Given the description of an element on the screen output the (x, y) to click on. 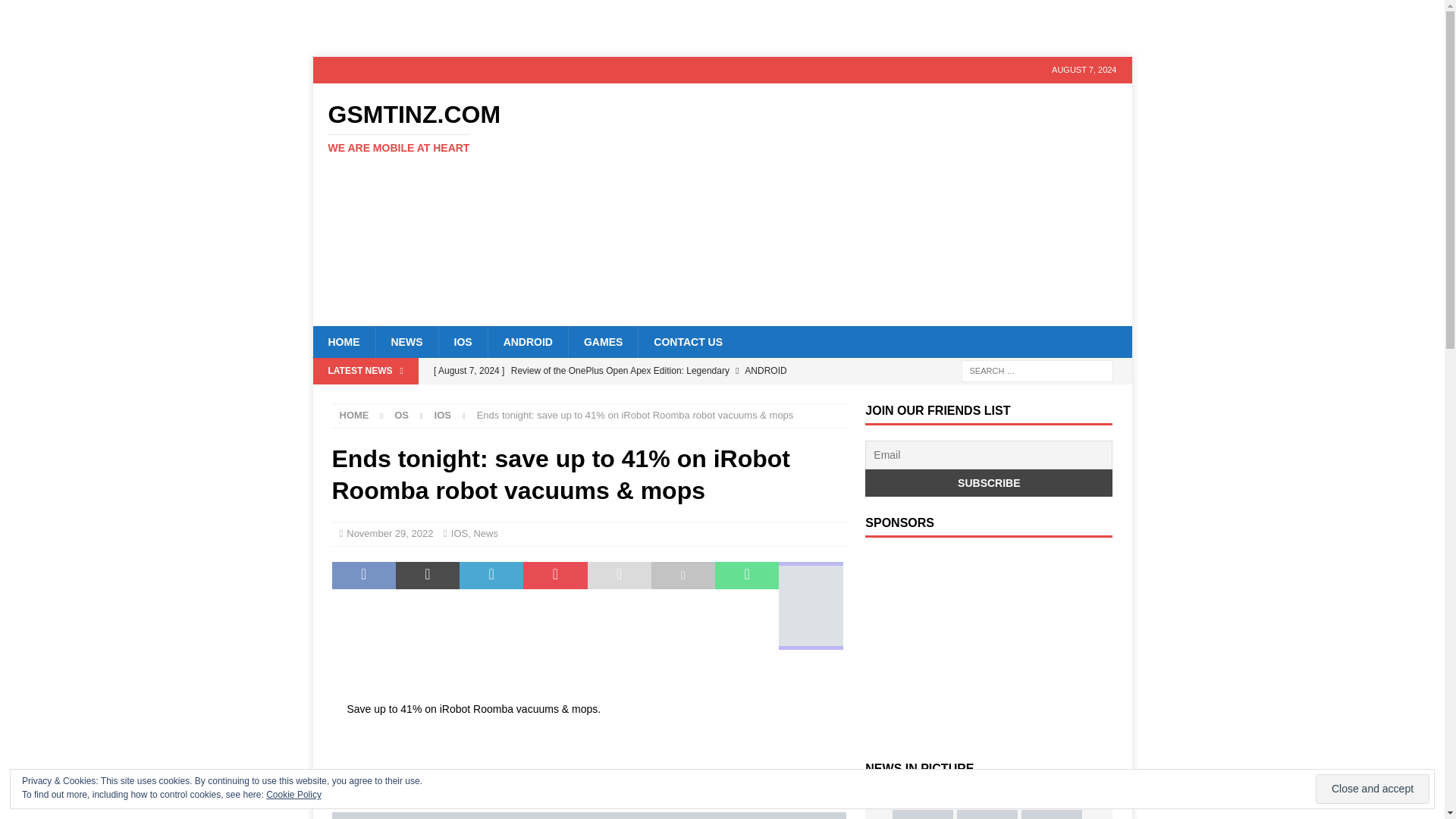
GAMES (441, 127)
IOS (602, 341)
Home (442, 414)
CONTACT US (354, 414)
HOME (687, 341)
IOS (354, 414)
OS (459, 532)
Review of the OnePlus Open Apex Edition: Legendary (401, 414)
November 29, 2022 (634, 370)
NEWS (389, 532)
News (406, 341)
Search (485, 532)
Close and accept (56, 11)
GSMTINZ.com (1372, 788)
